Given the description of an element on the screen output the (x, y) to click on. 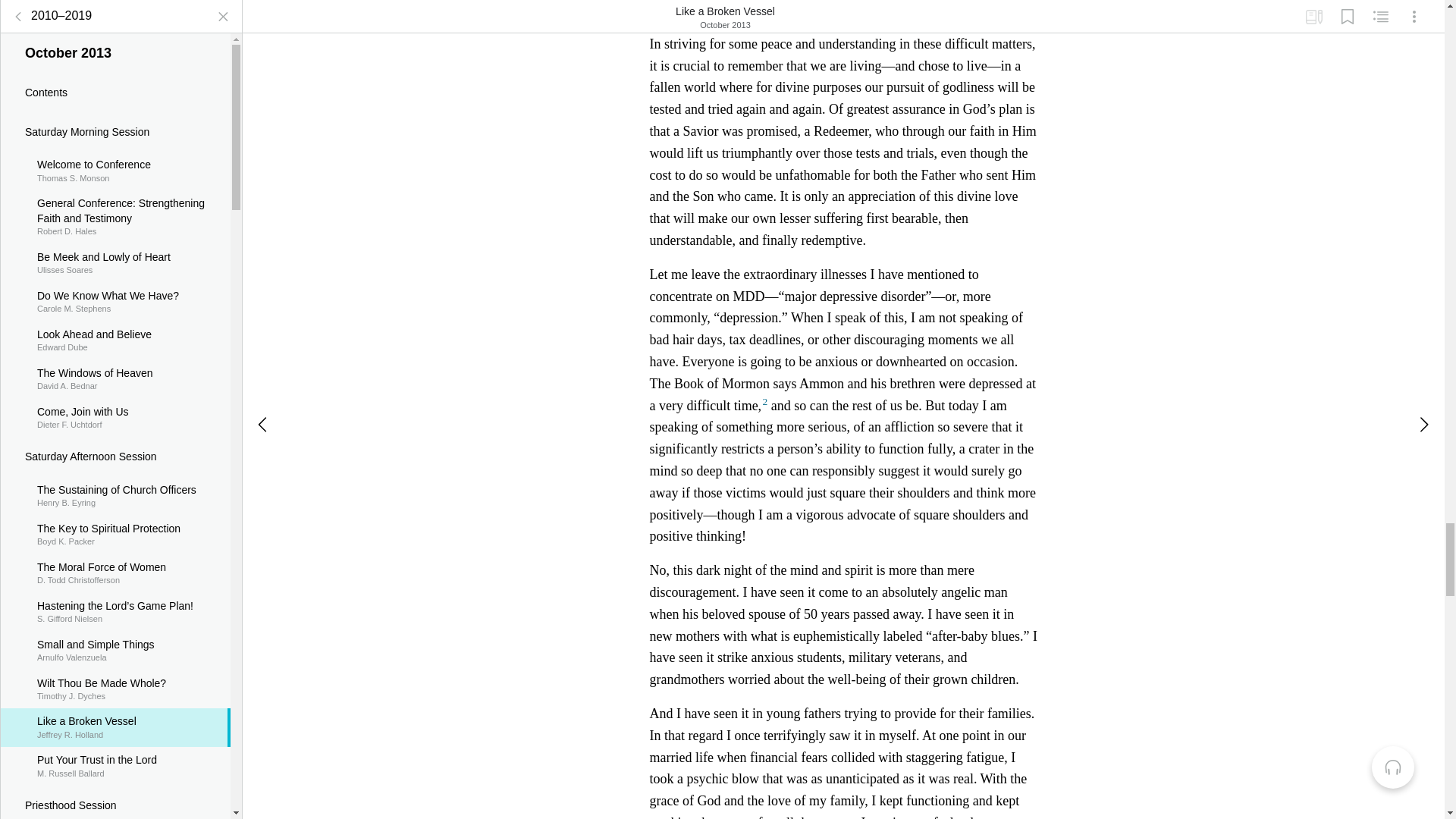
Sunday Morning Session (115, 106)
Sunday Afternoon Session (115, 416)
